Given the description of an element on the screen output the (x, y) to click on. 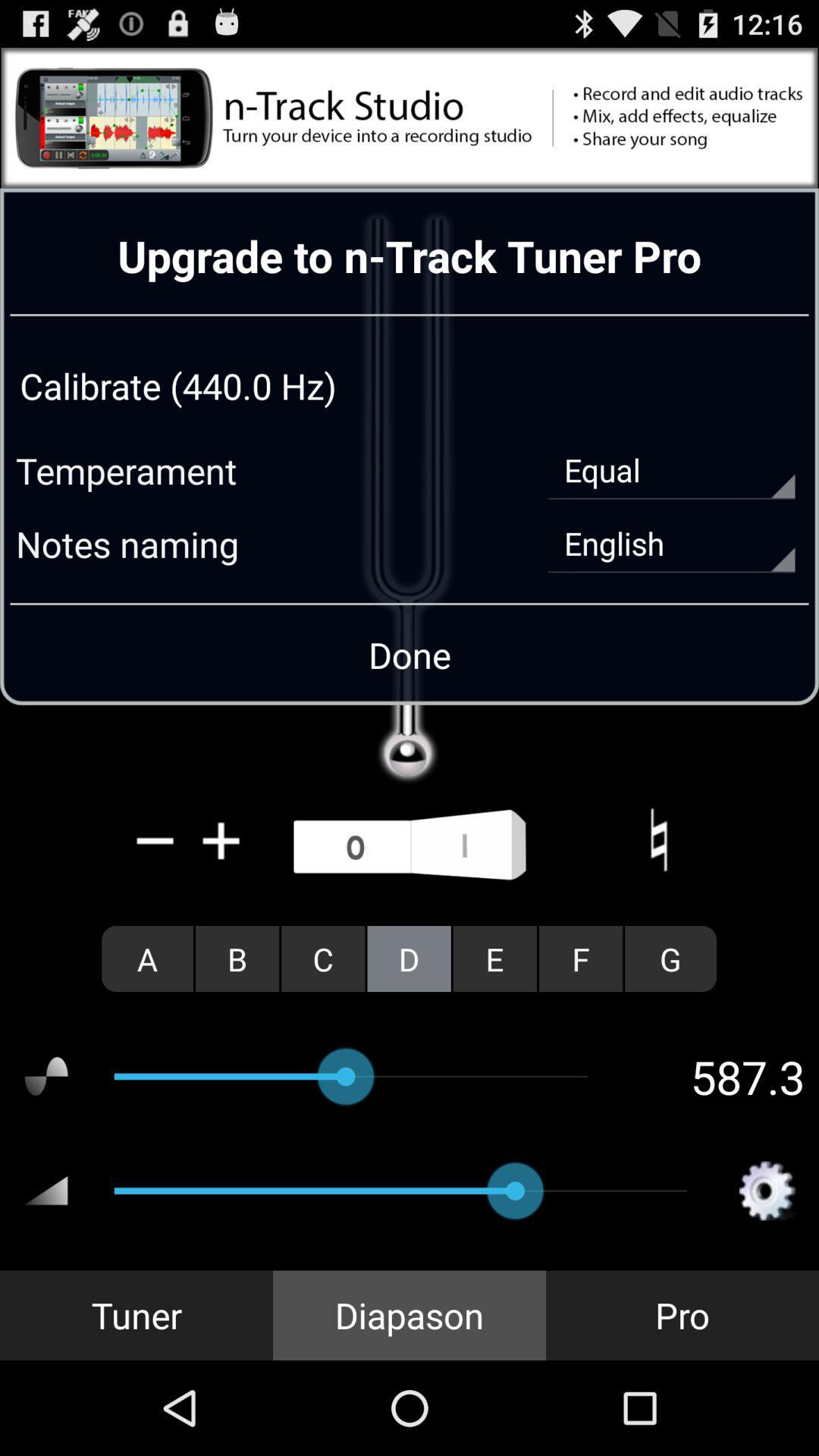
jump to the f (580, 958)
